Given the description of an element on the screen output the (x, y) to click on. 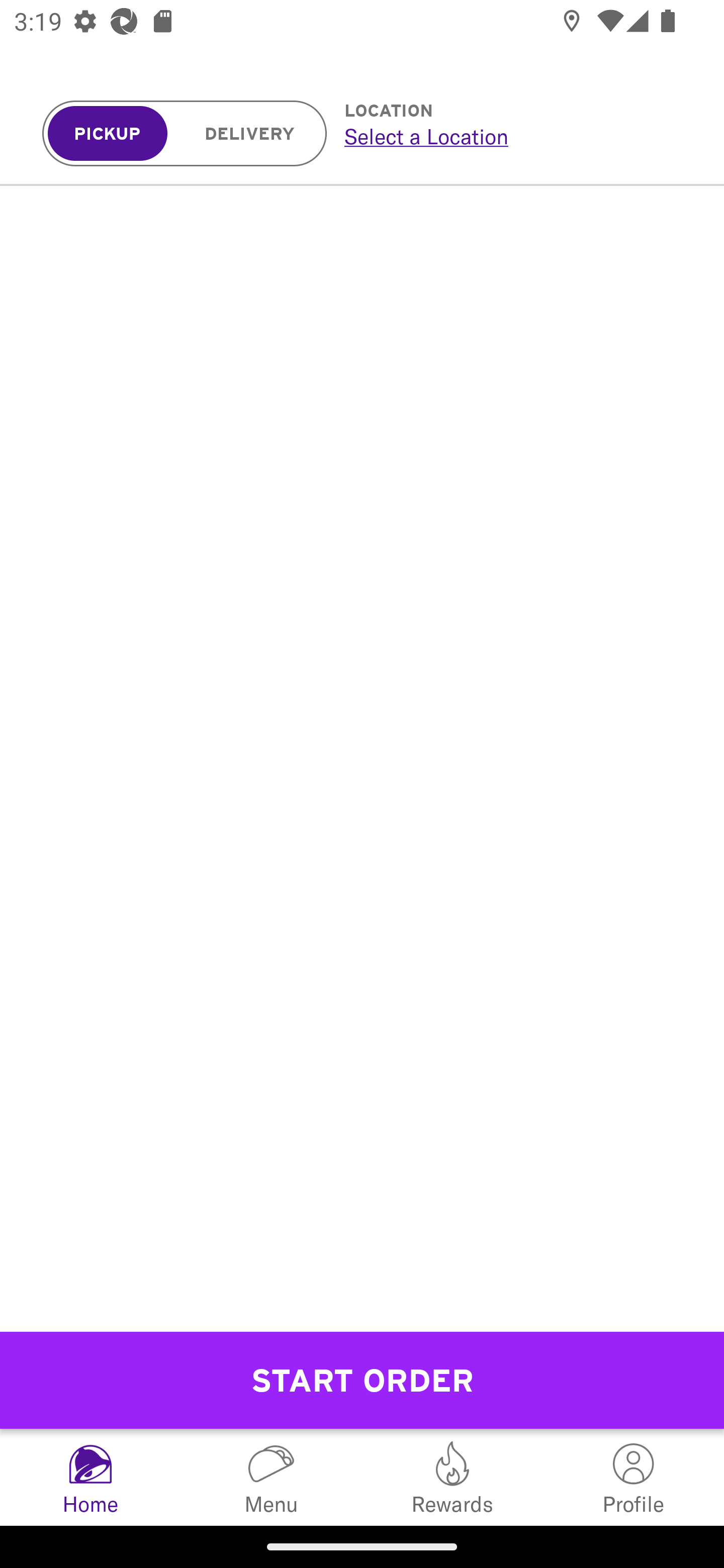
PICKUP (107, 133)
DELIVERY (249, 133)
Select a Location (511, 136)
START ORDER (362, 1379)
Home (90, 1476)
Menu (271, 1476)
Rewards (452, 1476)
My Info Profile (633, 1476)
